Given the description of an element on the screen output the (x, y) to click on. 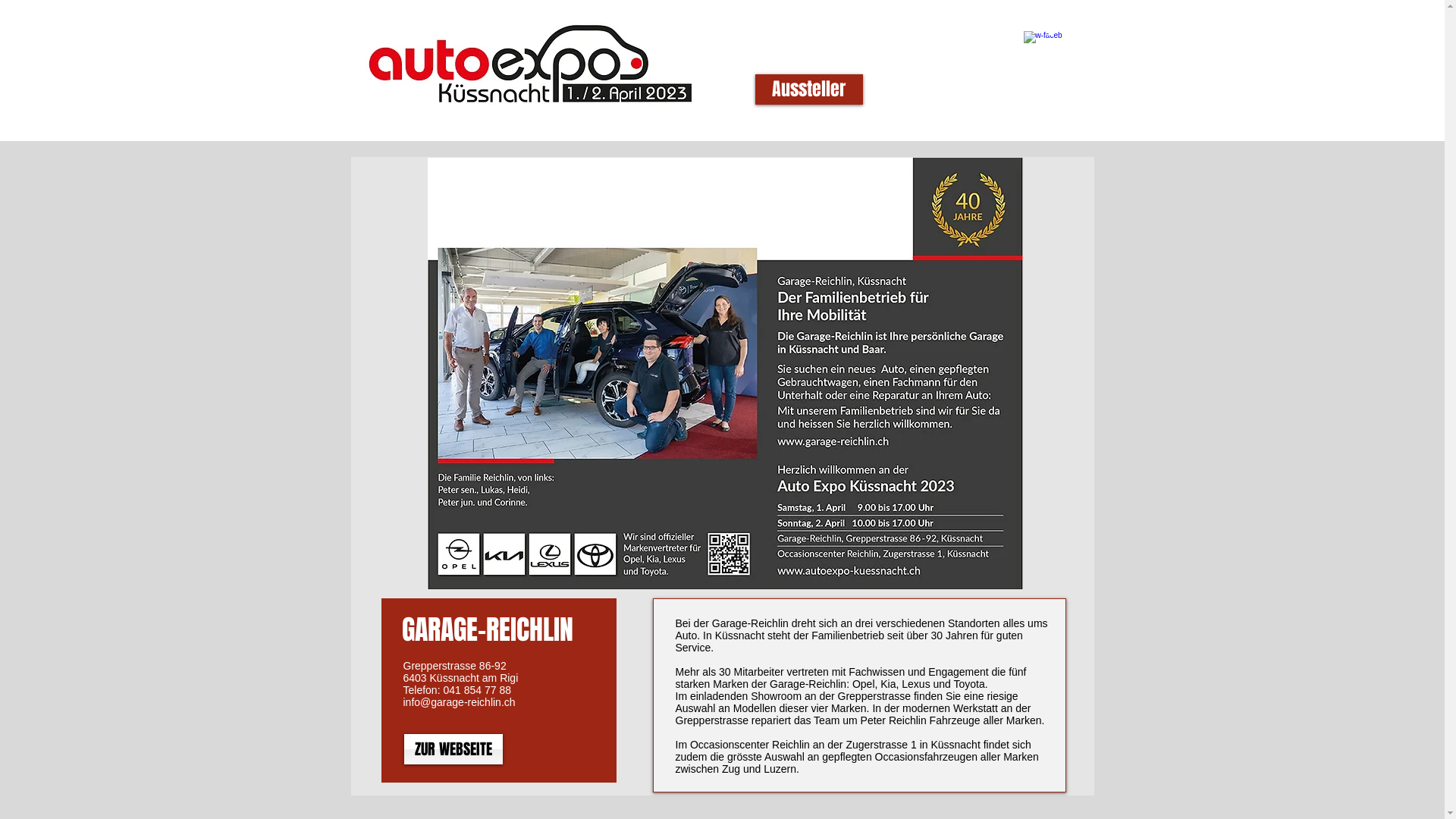
Aussteller Element type: text (808, 89)
ZUR WEBSEITE Element type: text (452, 749)
